Given the description of an element on the screen output the (x, y) to click on. 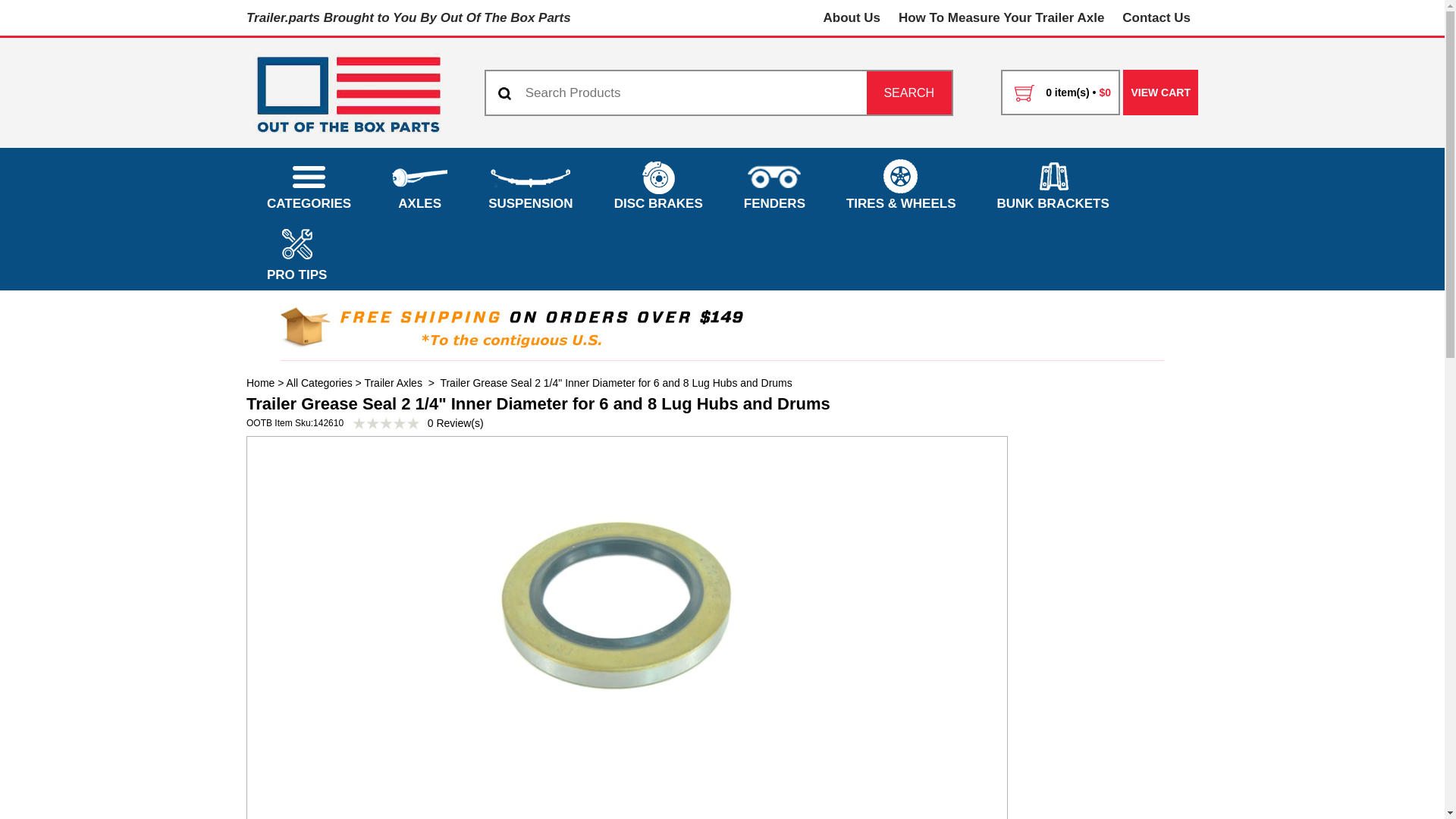
CATEGORIES (308, 183)
How To Measure Your Trailer Axle (1001, 18)
About Us (851, 18)
SEARCH (909, 92)
Contact Us (1156, 18)
VIEW CART (1160, 92)
